Given the description of an element on the screen output the (x, y) to click on. 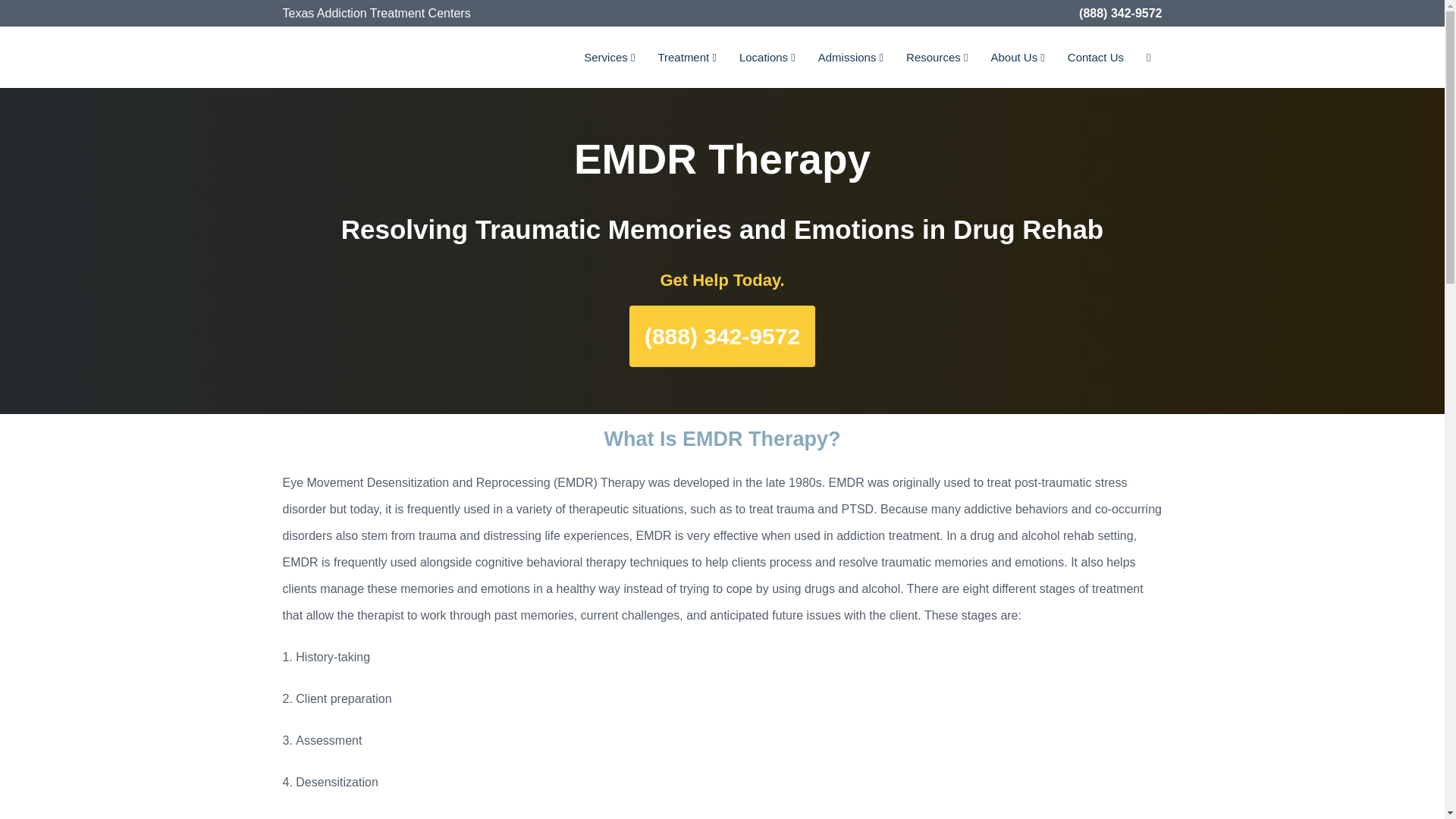
Admissions (850, 56)
Treatment (686, 56)
Nova Recovery Center Near Austin Texas (335, 55)
Locations (767, 56)
Services (609, 56)
